Given the description of an element on the screen output the (x, y) to click on. 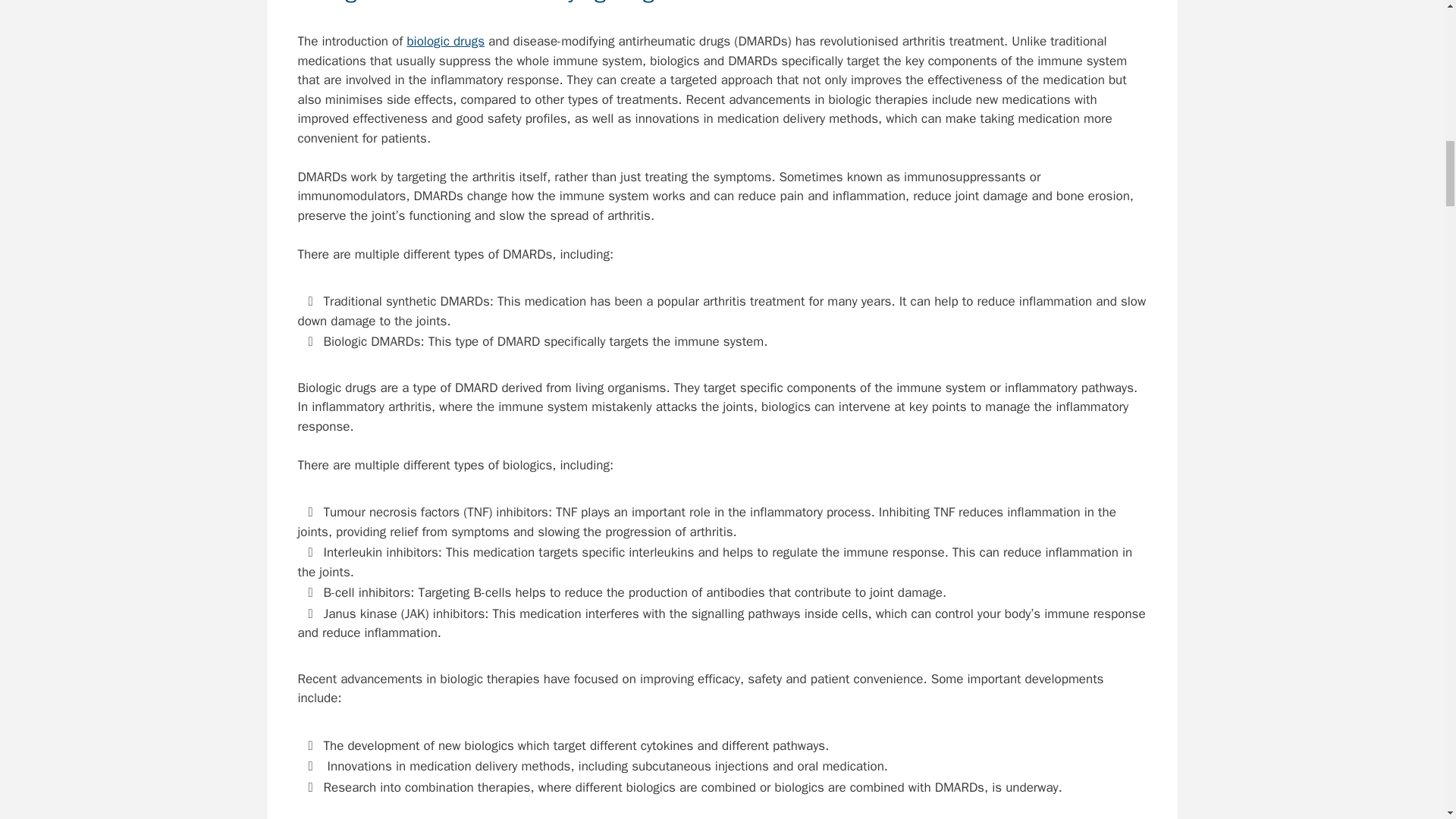
biologic drugs (445, 41)
